Given the description of an element on the screen output the (x, y) to click on. 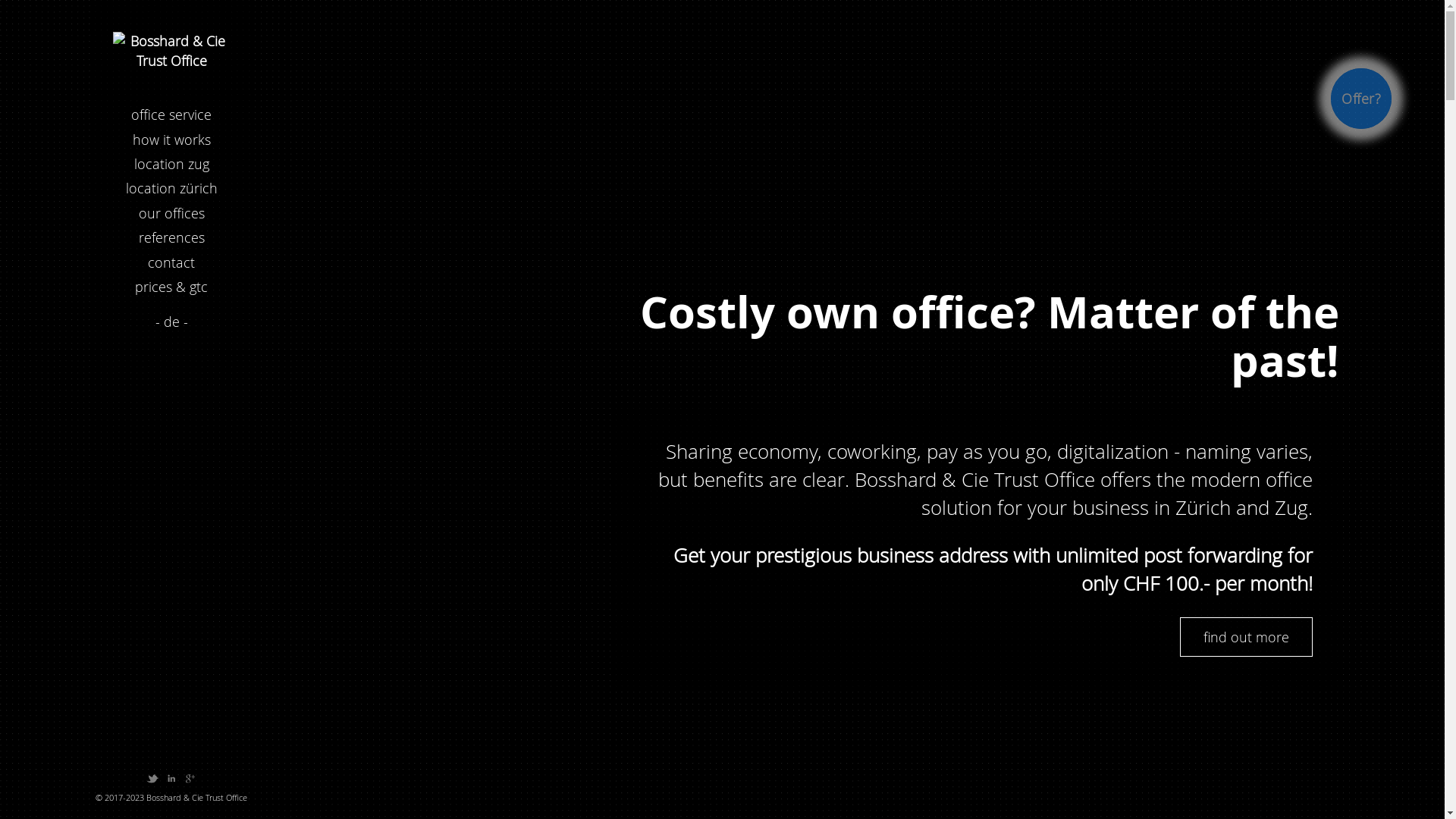
Twitter Element type: hover (152, 776)
Offer? Element type: text (1360, 98)
find out more Element type: text (1245, 636)
- de - Element type: text (171, 321)
LinkedIn Element type: hover (171, 776)
prices & gtc Element type: text (171, 286)
contact Element type: text (171, 262)
location zug Element type: text (171, 163)
Google+ Element type: hover (190, 776)
our offices Element type: text (171, 212)
office service Element type: text (171, 114)
how it works Element type: text (171, 139)
references Element type: text (171, 237)
